Given the description of an element on the screen output the (x, y) to click on. 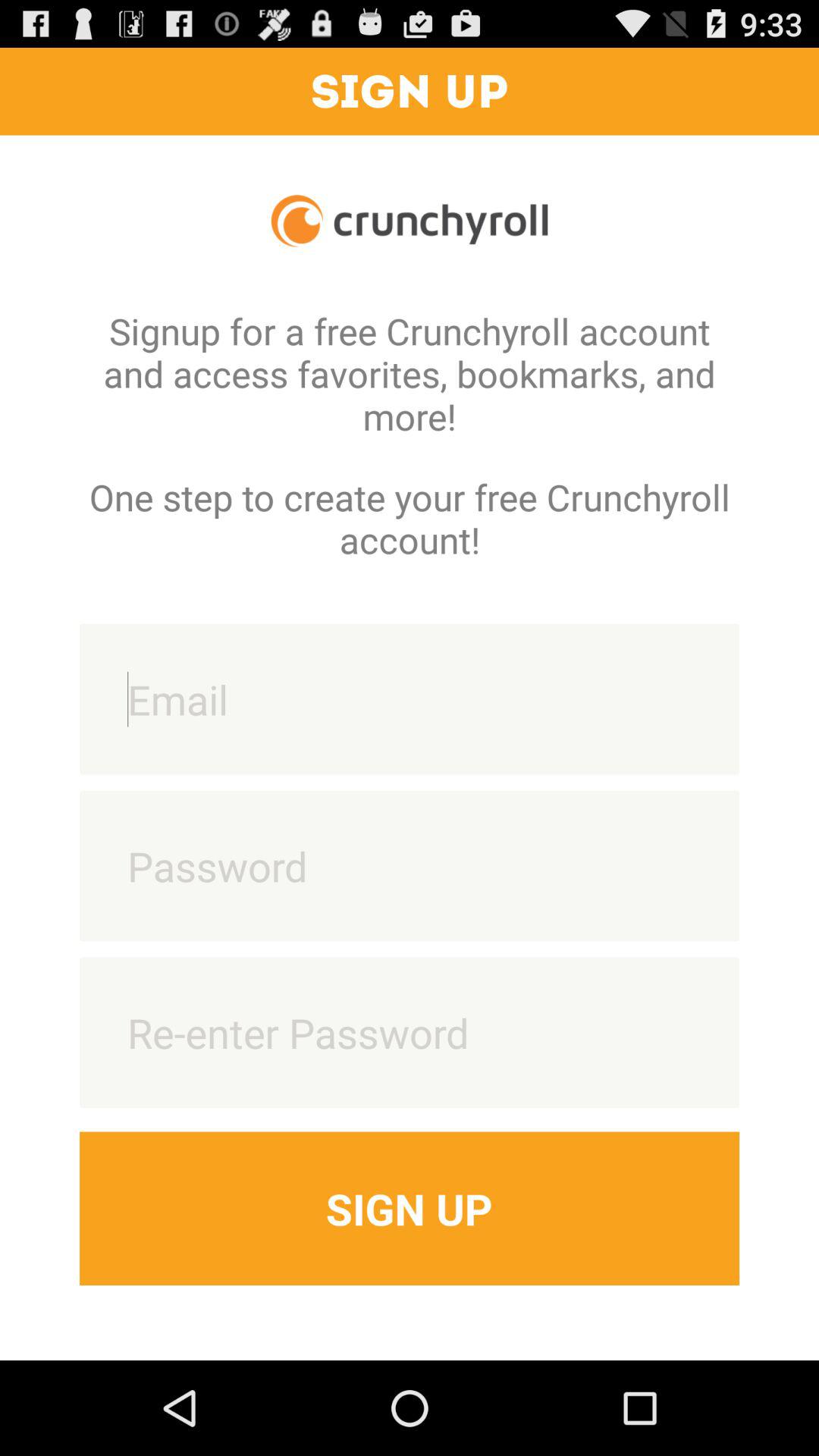
email address text box (409, 698)
